Given the description of an element on the screen output the (x, y) to click on. 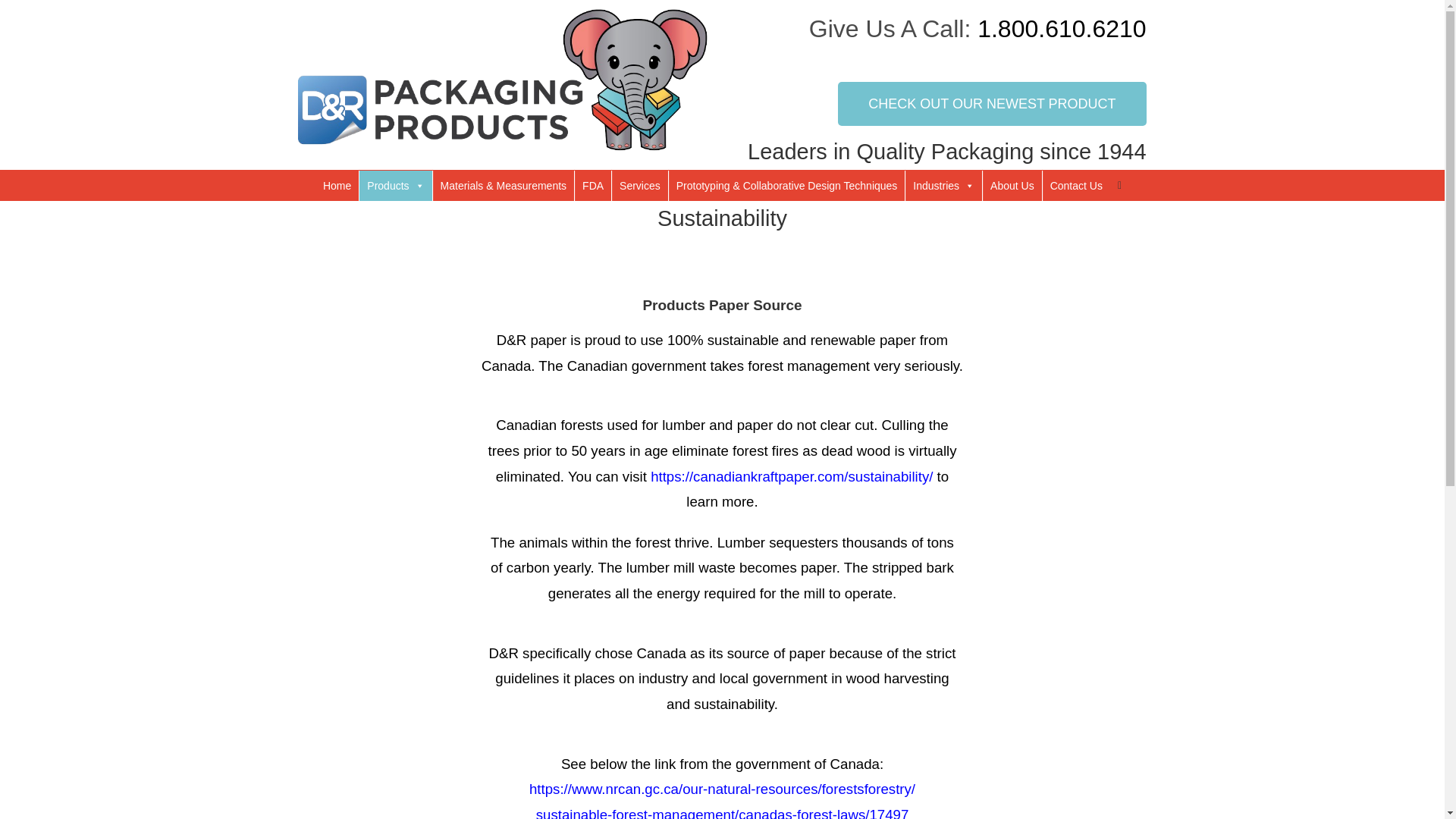
Products (394, 185)
1.800.610.6210 (1060, 28)
Home (336, 185)
FDA (593, 185)
Industries (943, 185)
Services (639, 185)
CHECK OUT OUR NEWEST PRODUCT (991, 103)
